Given the description of an element on the screen output the (x, y) to click on. 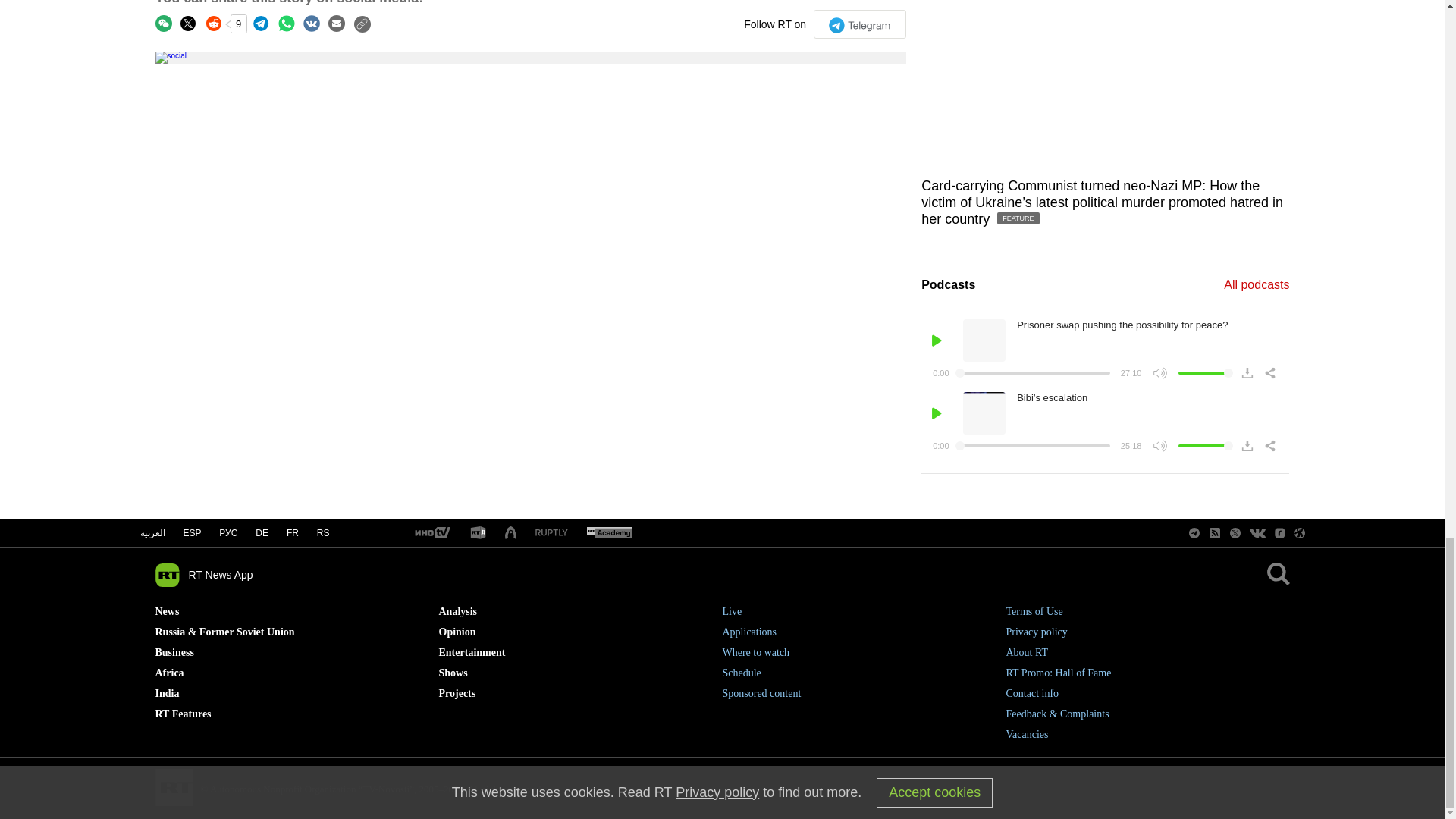
RT  (431, 533)
RT  (551, 533)
RT  (608, 533)
RT  (478, 533)
